Given the description of an element on the screen output the (x, y) to click on. 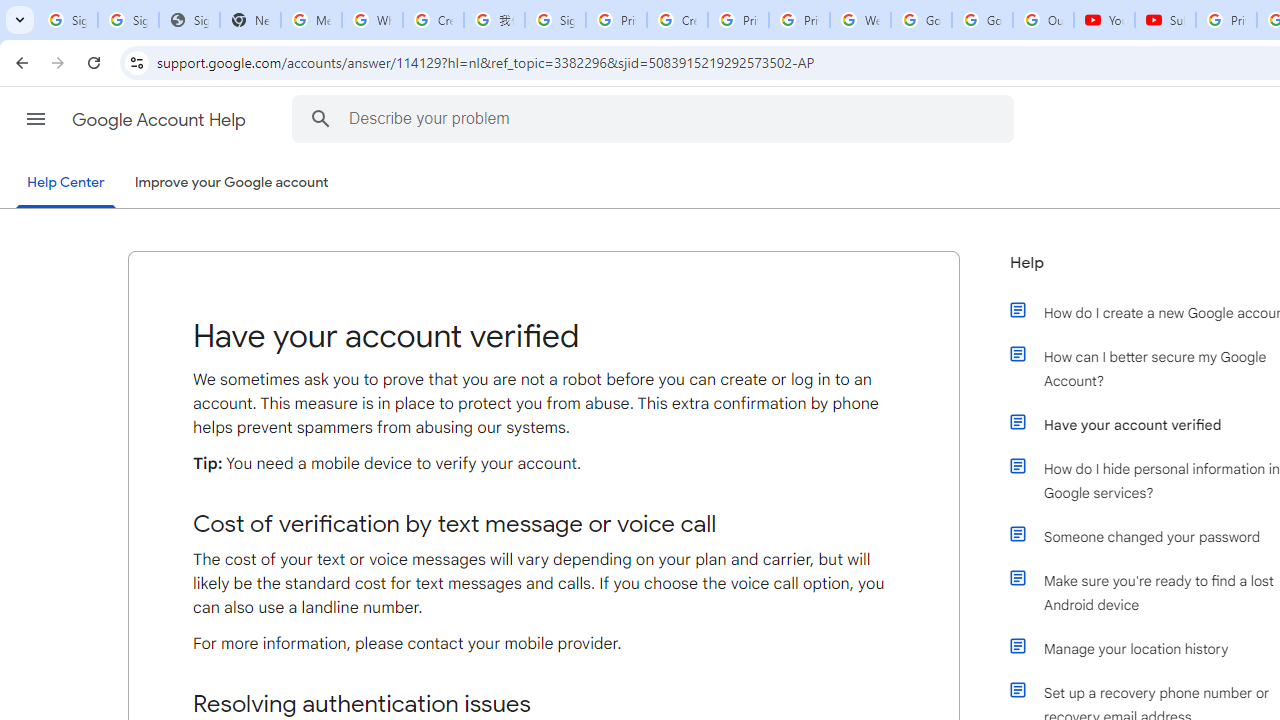
Create your Google Account (433, 20)
Search the Help Center (320, 118)
Sign in - Google Accounts (128, 20)
Who is my administrator? - Google Account Help (372, 20)
Subscriptions - YouTube (1165, 20)
Improve your Google account (231, 183)
